Given the description of an element on the screen output the (x, y) to click on. 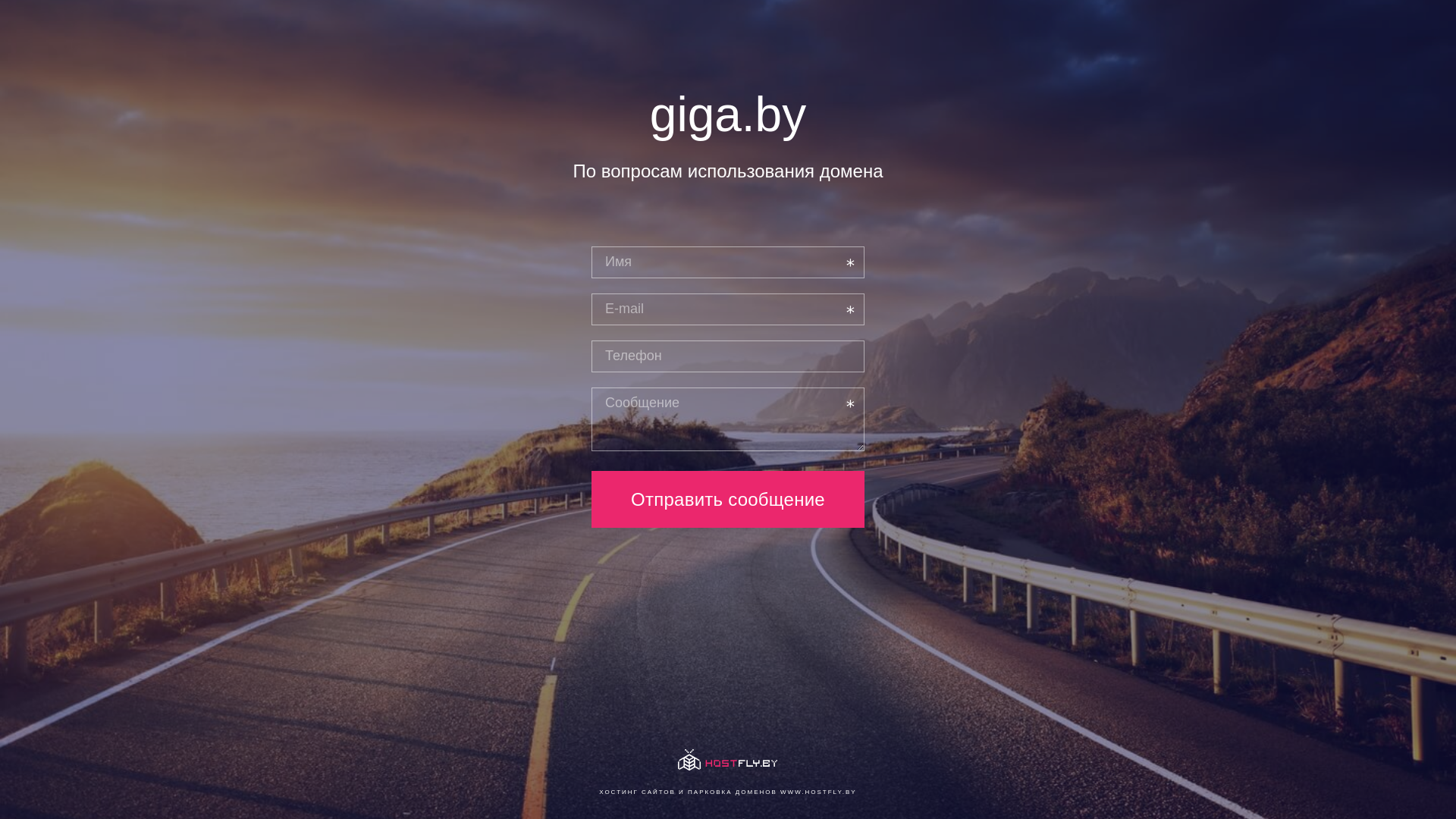
WWW.HOSTFLY.BY Element type: text (818, 791)
